Given the description of an element on the screen output the (x, y) to click on. 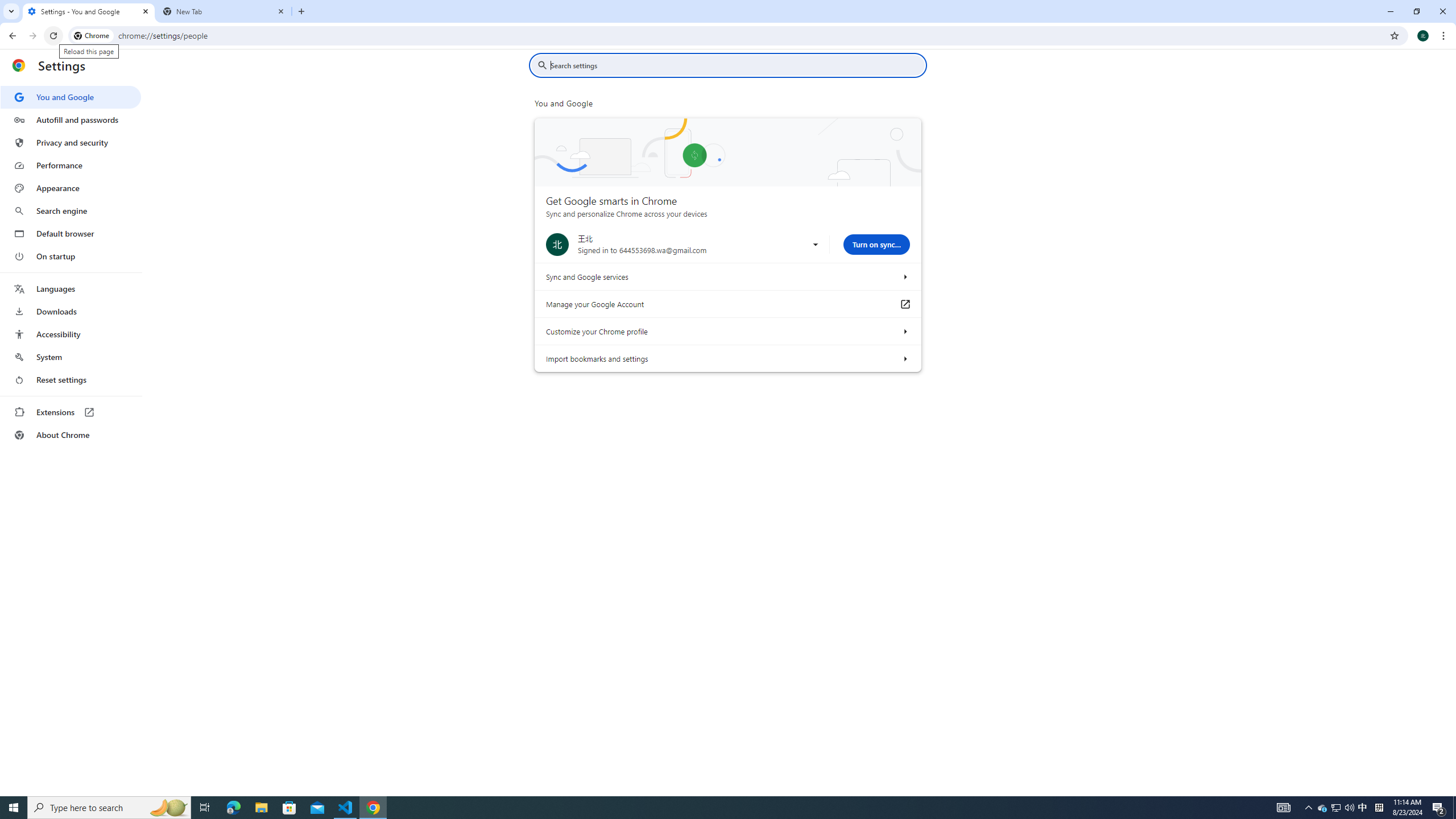
AutomationID: menu (71, 265)
Autofill and passwords (70, 119)
Languages (70, 288)
